Given the description of an element on the screen output the (x, y) to click on. 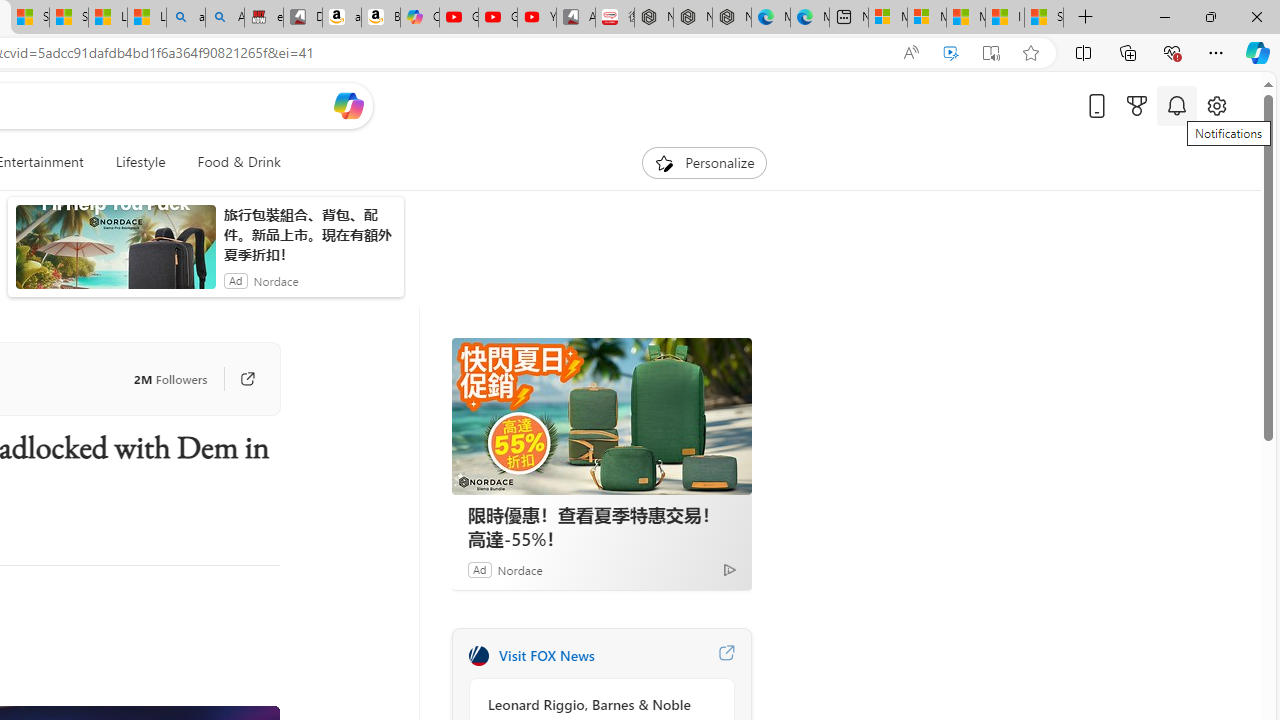
Amazon Echo Dot PNG - Search Images (225, 17)
anim-content (115, 255)
Lifestyle (140, 162)
Notifications (1176, 105)
